Given the description of an element on the screen output the (x, y) to click on. 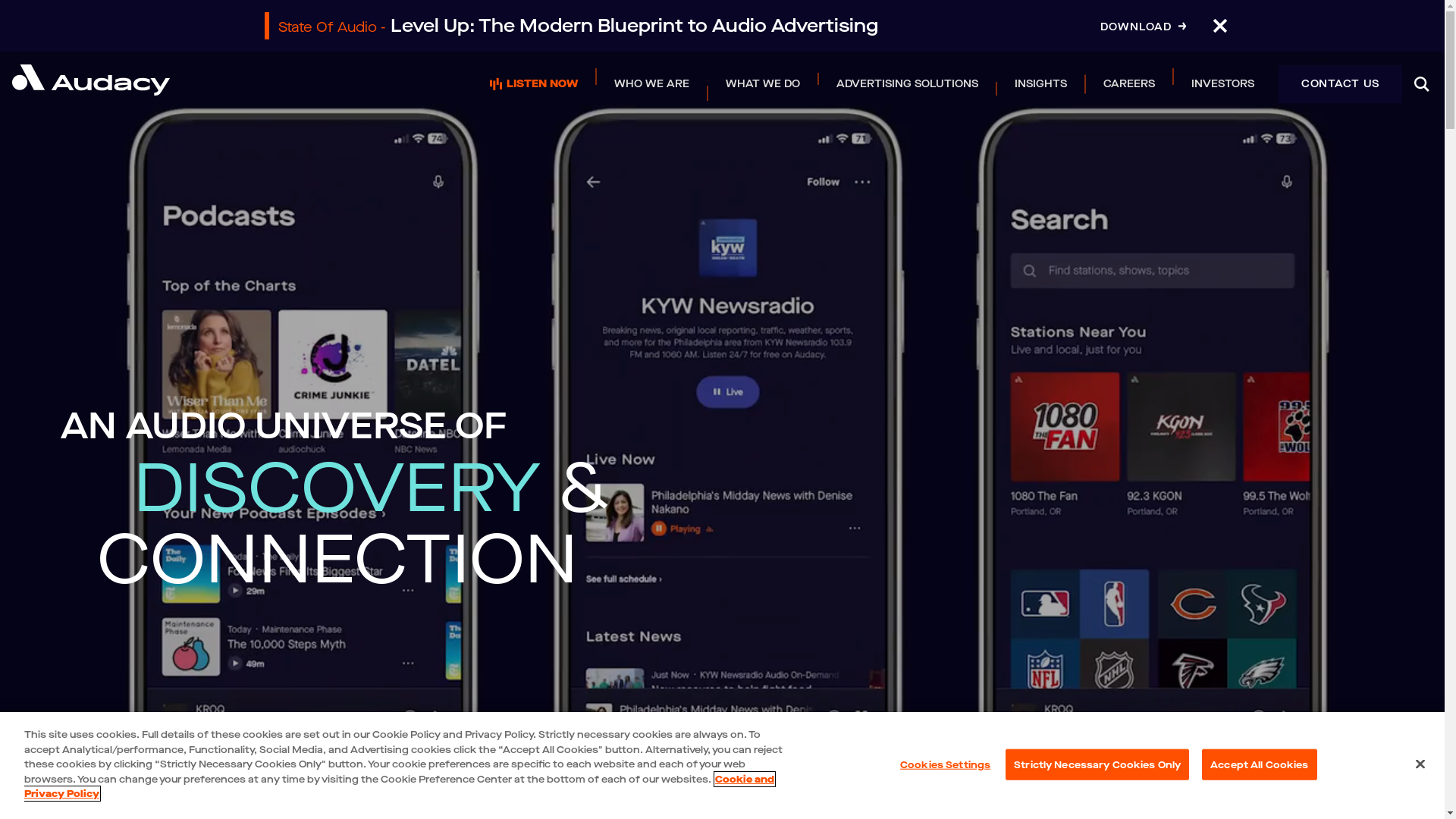
Strictly Necessary Cookies Only Element type: text (1097, 764)
Accept All Cookies Element type: text (1258, 764)
LISTEN NOW Element type: text (533, 83)
CONTACT US Element type: text (1340, 84)
CAREERS Element type: text (1129, 83)
WHAT WE DO Element type: text (762, 83)
DOWNLOAD Element type: text (1142, 27)
Cookies Settings Element type: text (944, 764)
WHO WE ARE Element type: text (651, 83)
INVESTORS Element type: text (1222, 83)
INSIGHTS Element type: text (1040, 83)
ADVERTISING SOLUTIONS Element type: text (907, 83)
Cookie and Privacy Policy Element type: text (399, 786)
